Given the description of an element on the screen output the (x, y) to click on. 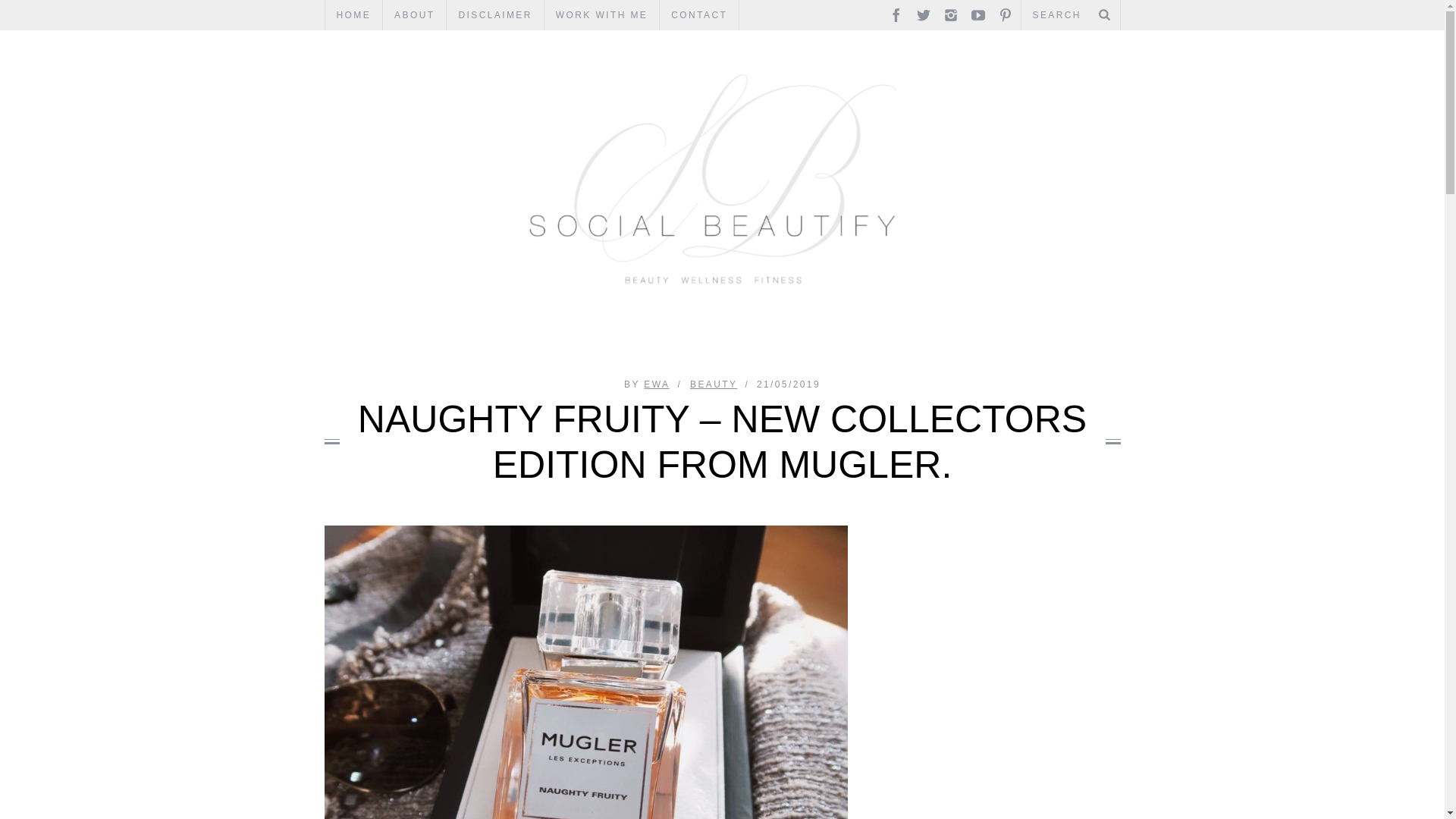
CONTACT (698, 14)
Social Beautify -  (722, 62)
ABOUT (413, 14)
Search (1070, 15)
DISCLAIMER (494, 14)
HOME (352, 14)
WORK WITH ME (601, 14)
